Given the description of an element on the screen output the (x, y) to click on. 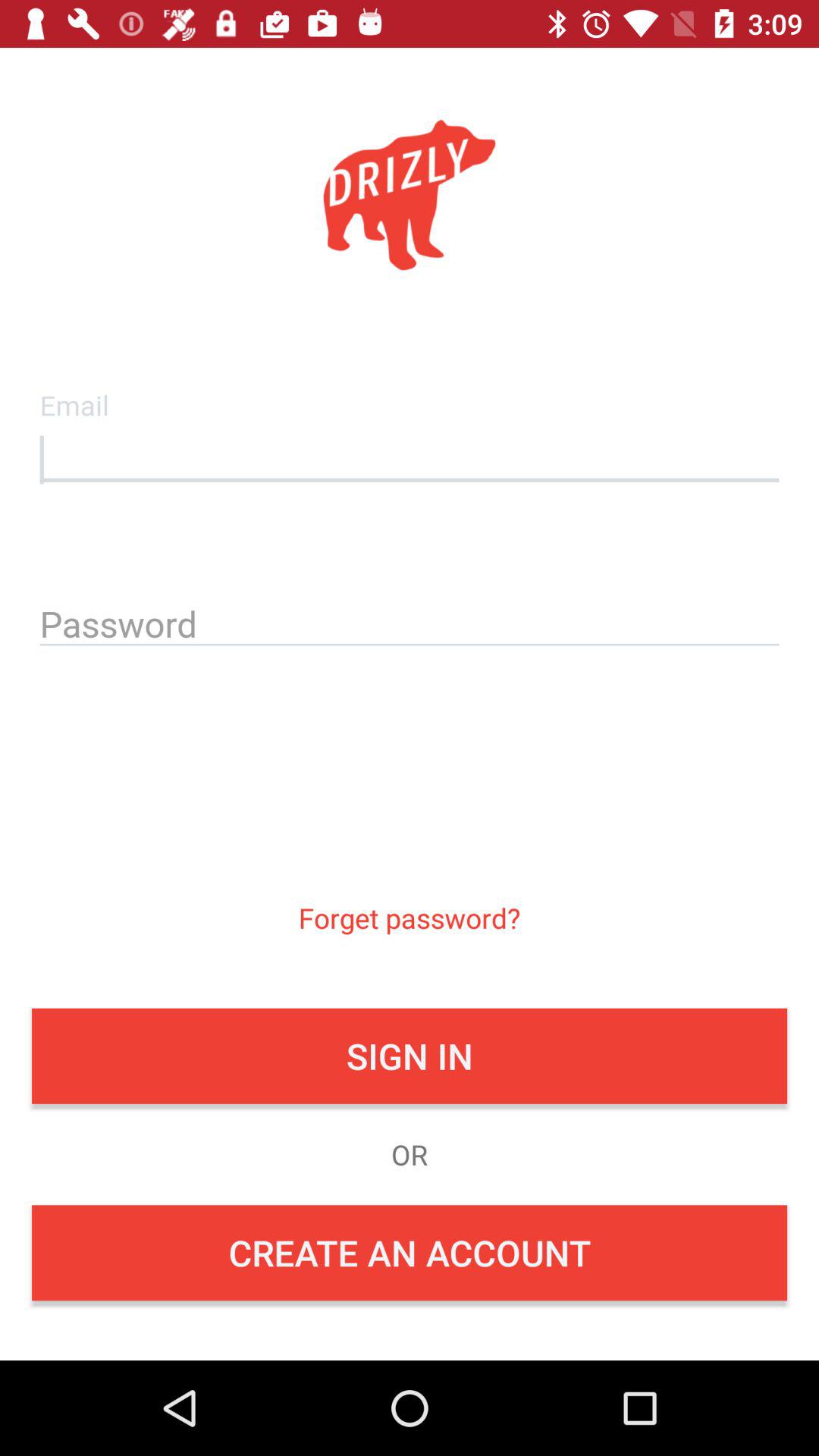
email input box (409, 455)
